Given the description of an element on the screen output the (x, y) to click on. 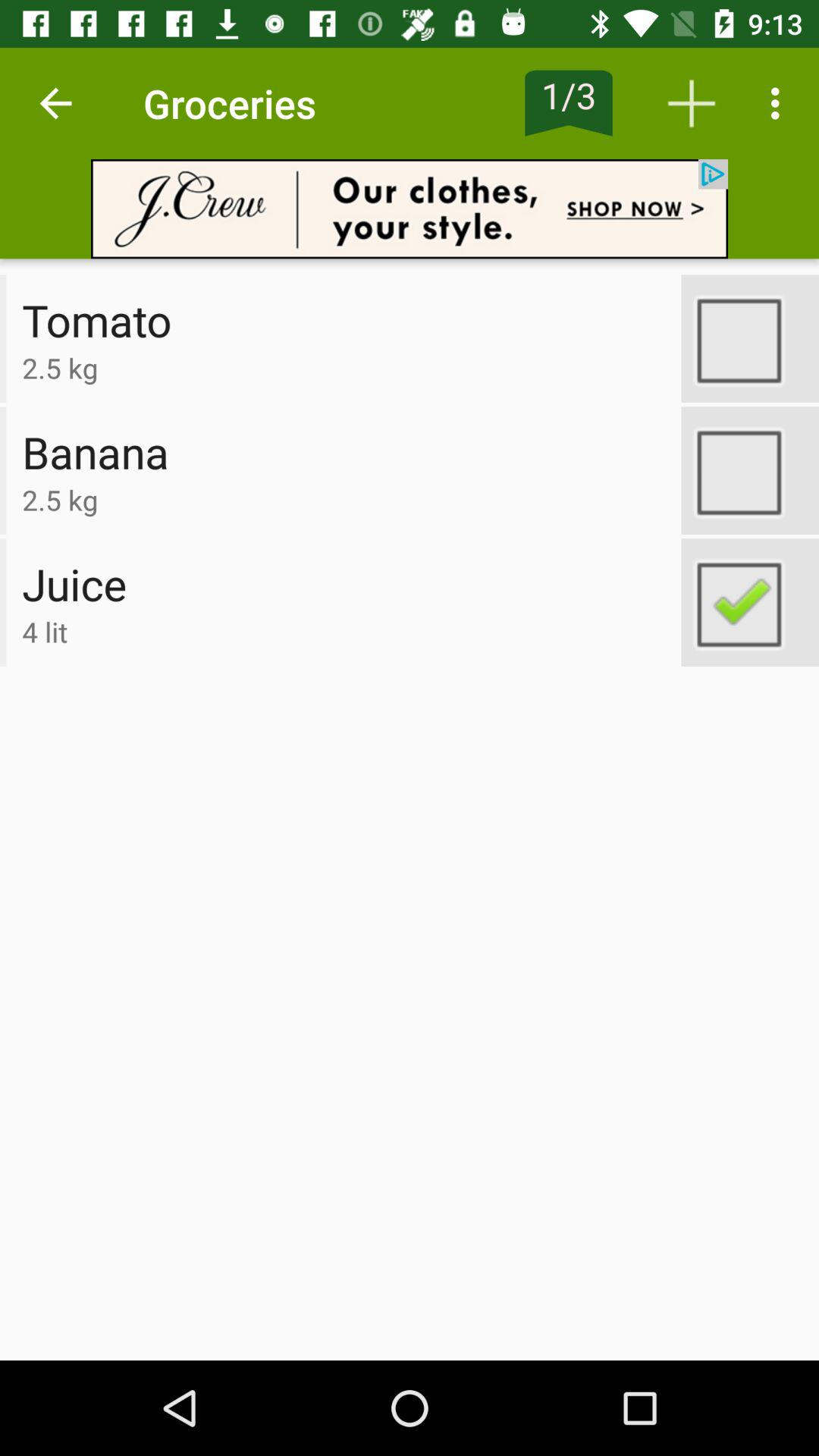
choose option (750, 338)
